Given the description of an element on the screen output the (x, y) to click on. 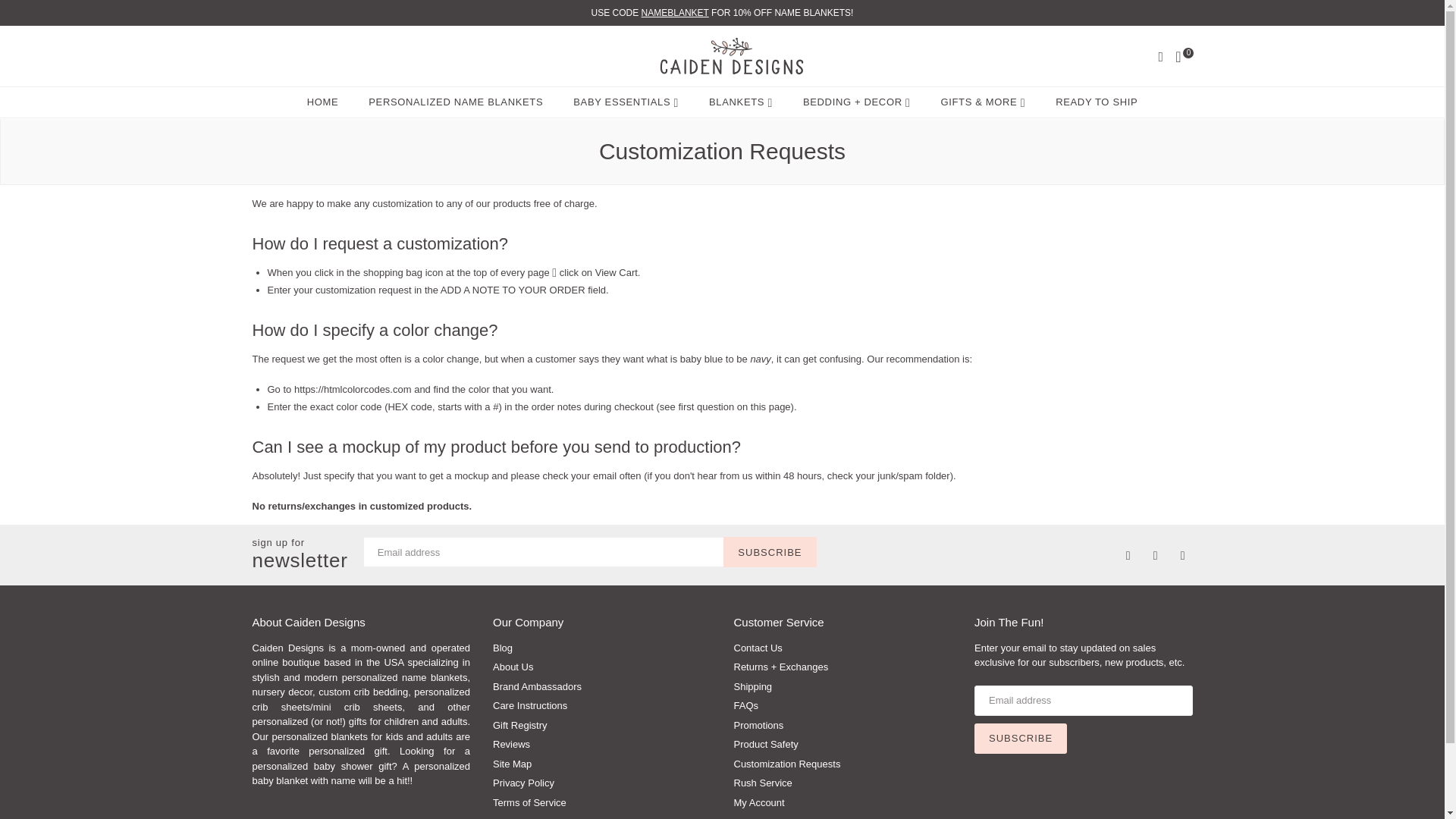
View Cart (616, 272)
Caiden Designs on Instagram (1178, 554)
Caiden Designs on Facebook (1123, 554)
HOME (322, 101)
HTML Color Codes (353, 389)
PERSONALIZED NAME BLANKETS (455, 101)
BABY ESSENTIALS (625, 101)
Caiden Designs on Pinterest (1150, 554)
BLANKETS (740, 101)
